Given the description of an element on the screen output the (x, y) to click on. 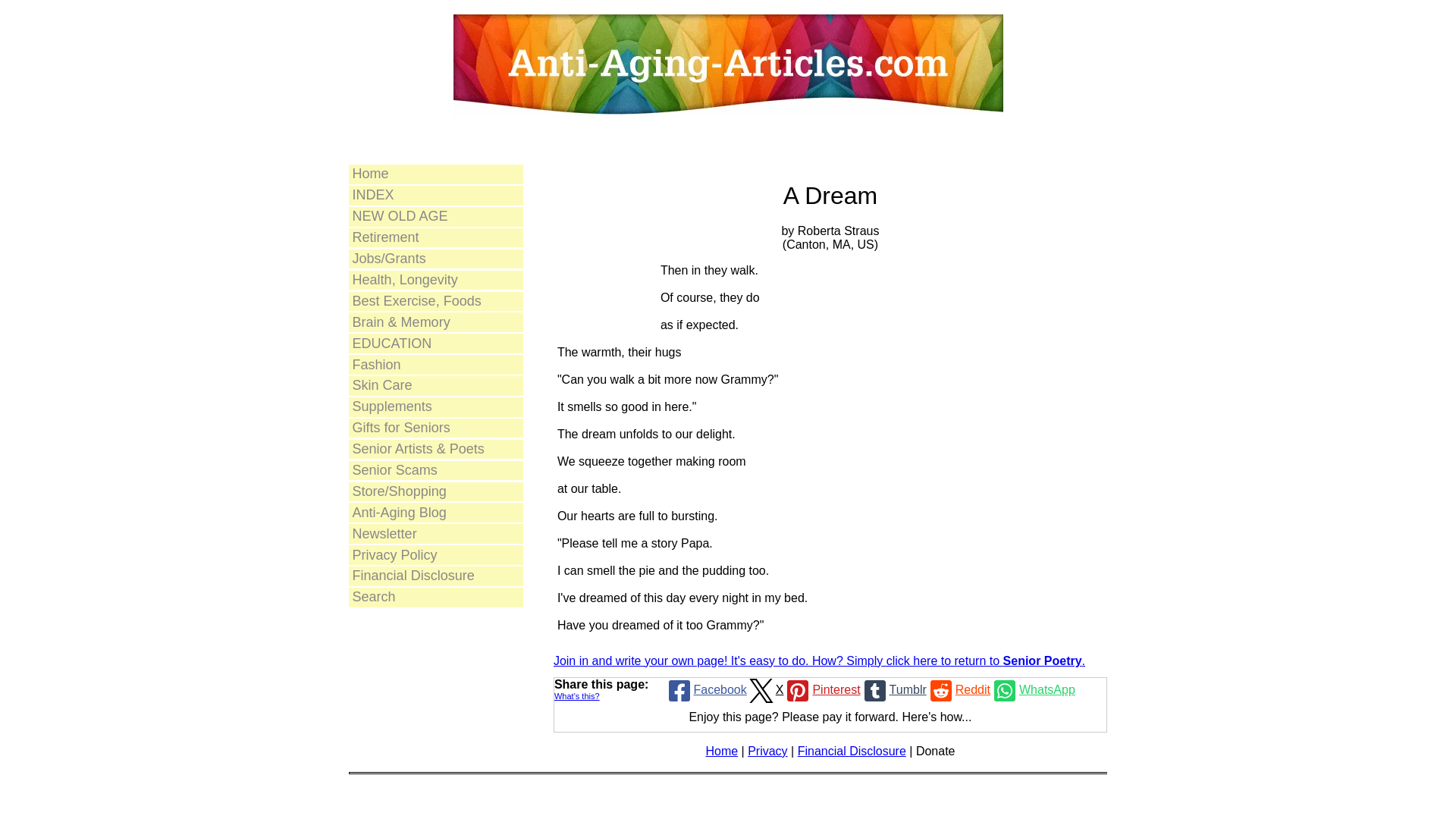
Financial Disclosure (851, 750)
Best Exercise, Foods (435, 301)
Privacy Policy (435, 555)
Newsletter (435, 533)
Skin Care (435, 385)
Financial Disclosure (435, 576)
Retirement (435, 238)
INDEX (435, 195)
EDUCATION (435, 342)
Gifts for Seniors (435, 428)
